Given the description of an element on the screen output the (x, y) to click on. 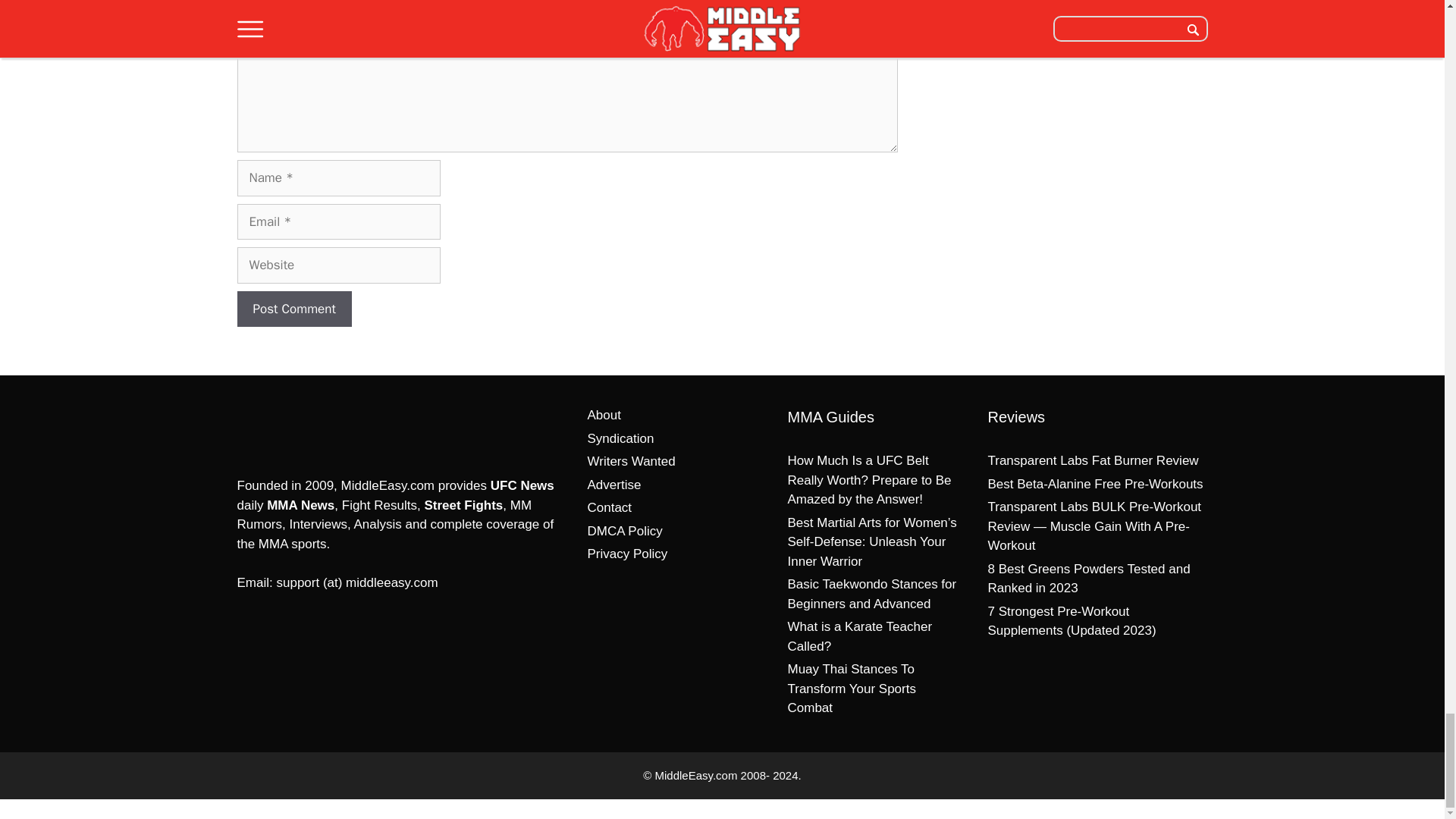
Post Comment (292, 309)
MiddlEeasy: MMA News (314, 428)
